Given the description of an element on the screen output the (x, y) to click on. 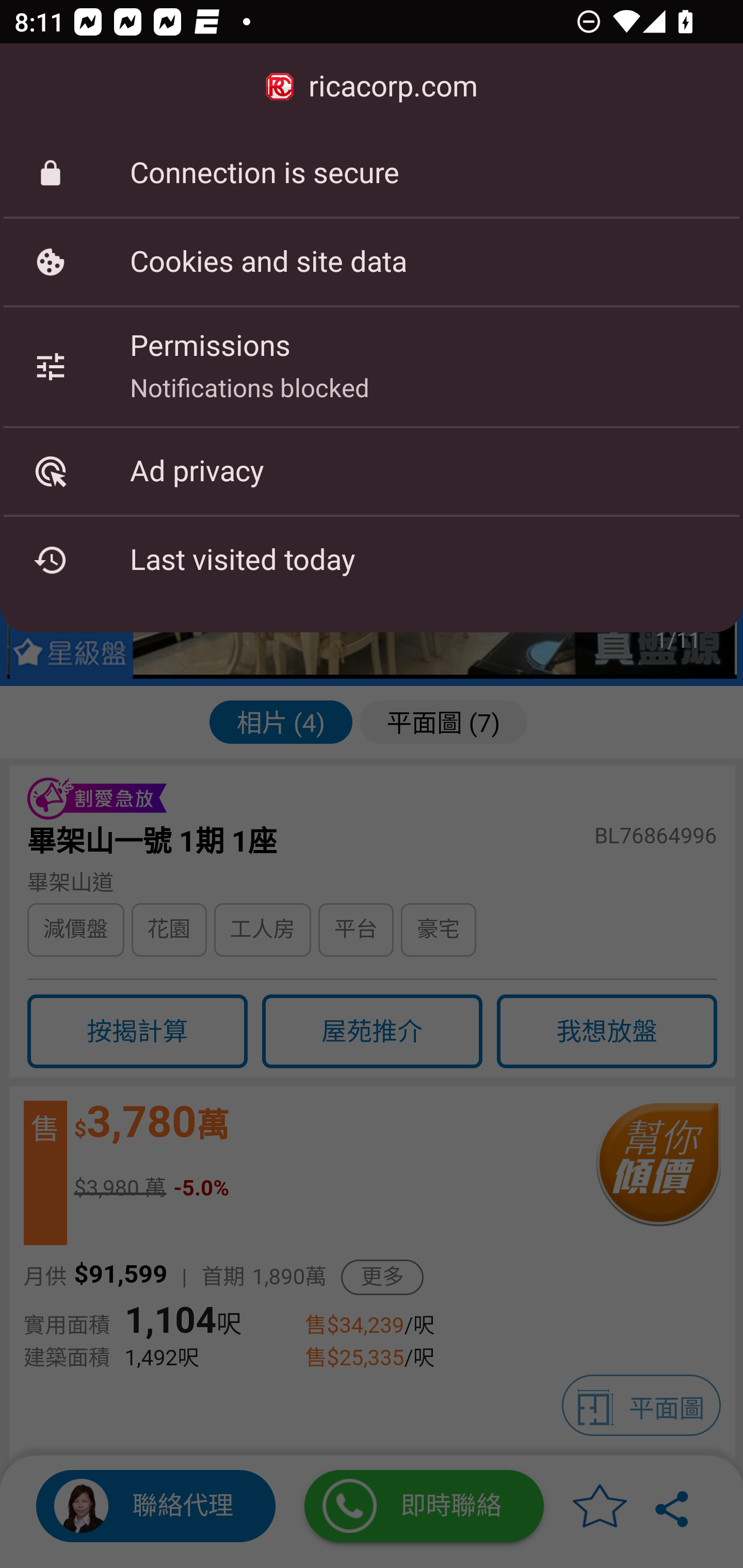
ricacorp.com (371, 86)
Connection is secure (371, 173)
Connection is secure (371, 173)
Cookies and site data (371, 261)
Cookies and site data (371, 261)
Permissions Notifications blocked (371, 366)
Permissions Notifications blocked (371, 366)
Ad privacy (371, 471)
Ad privacy (371, 471)
Last visited today (371, 560)
Last visited today (371, 560)
